Given the description of an element on the screen output the (x, y) to click on. 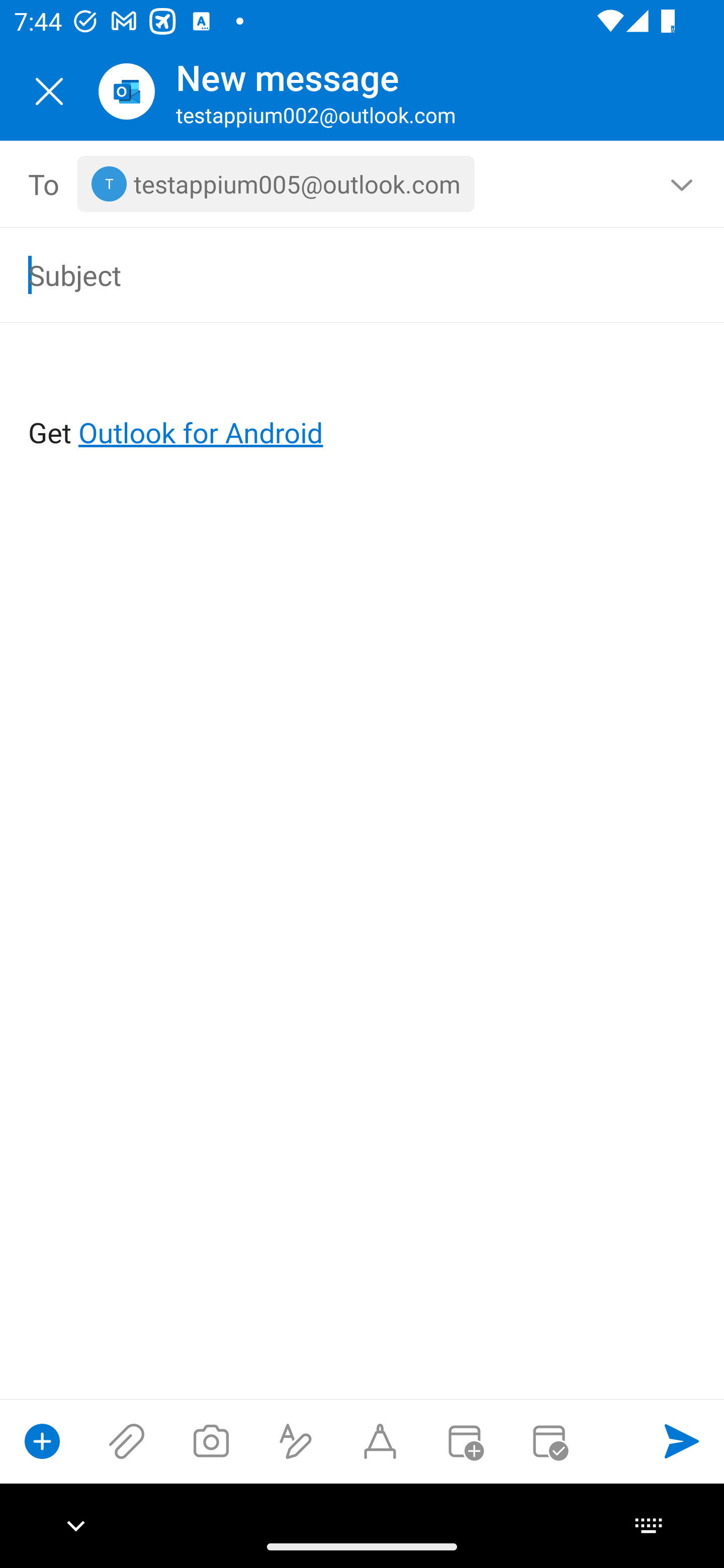
Close (49, 91)
Subject (333, 274)


Get Outlook for Android (363, 400)
Show compose options (42, 1440)
Attach files (126, 1440)
Take a photo (210, 1440)
Show formatting options (295, 1440)
Start Ink compose (380, 1440)
Convert to event (464, 1440)
Send availability (548, 1440)
Send (681, 1440)
